Given the description of an element on the screen output the (x, y) to click on. 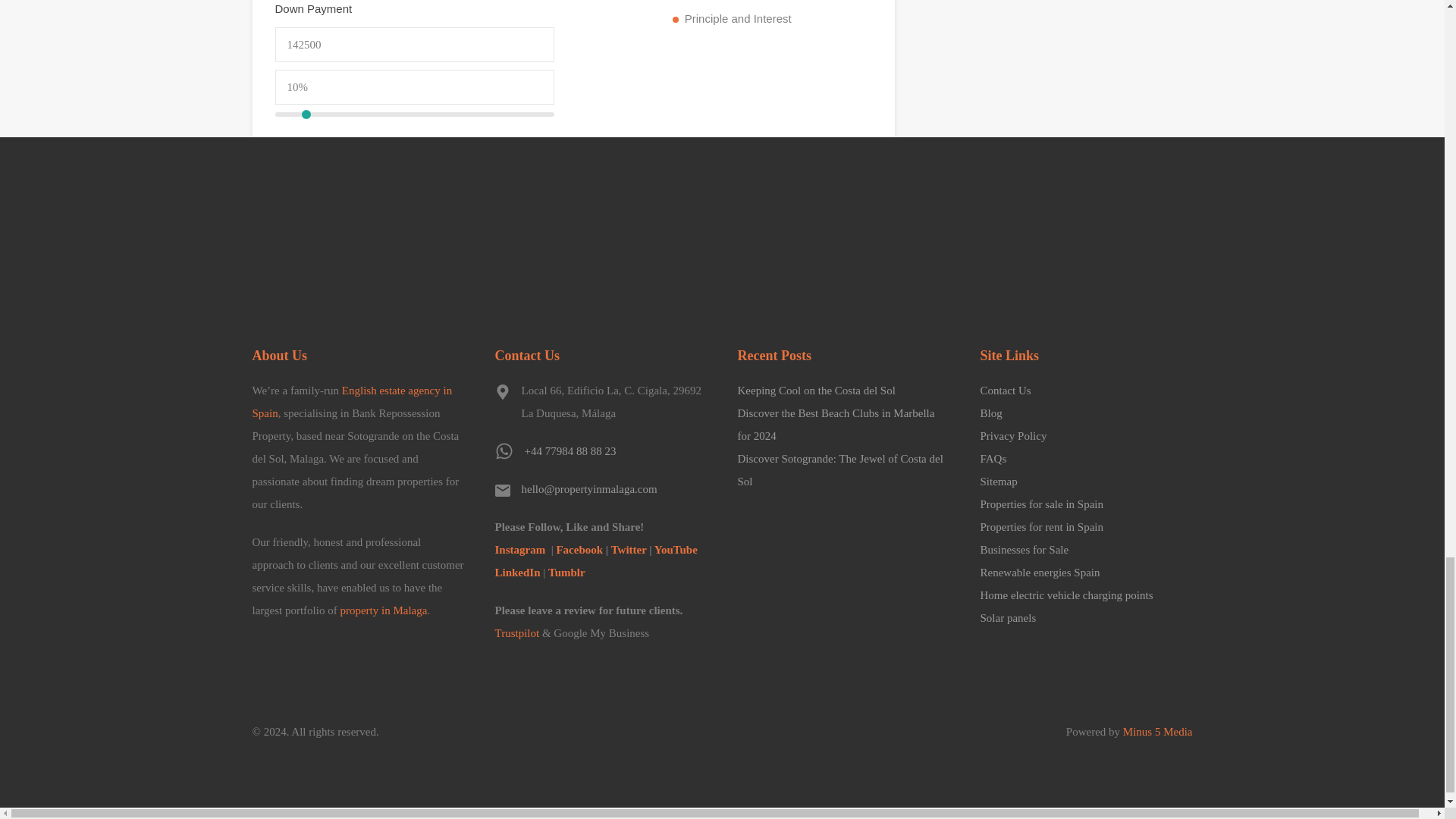
142500 (414, 44)
Property in Malaga (351, 242)
10 (414, 114)
